Given the description of an element on the screen output the (x, y) to click on. 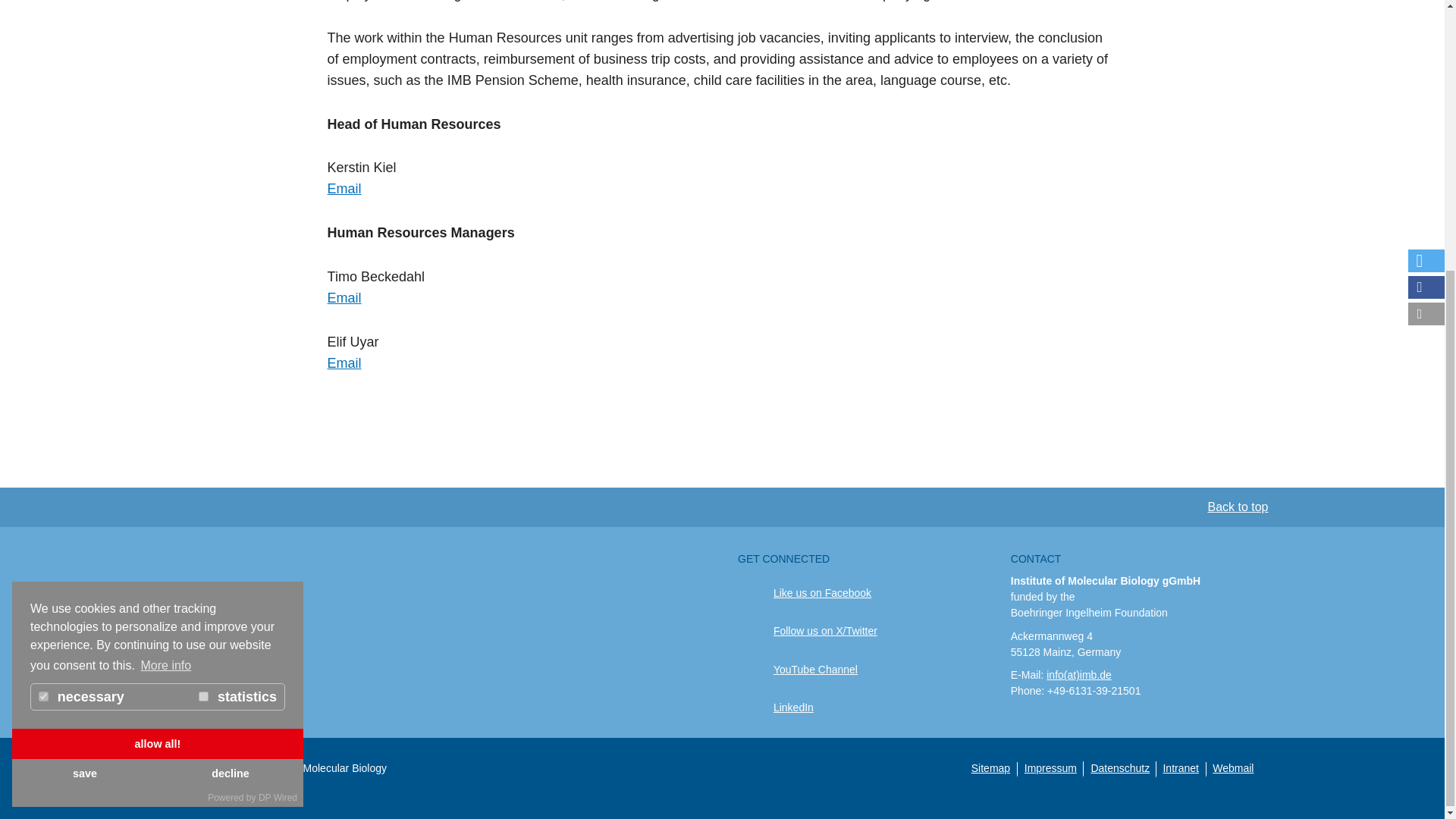
YouTube Logo (756, 669)
YouTube Logo (756, 708)
Facebook Logo (756, 592)
Opens window for sending email (344, 297)
Opens window for sending email (344, 188)
